Given the description of an element on the screen output the (x, y) to click on. 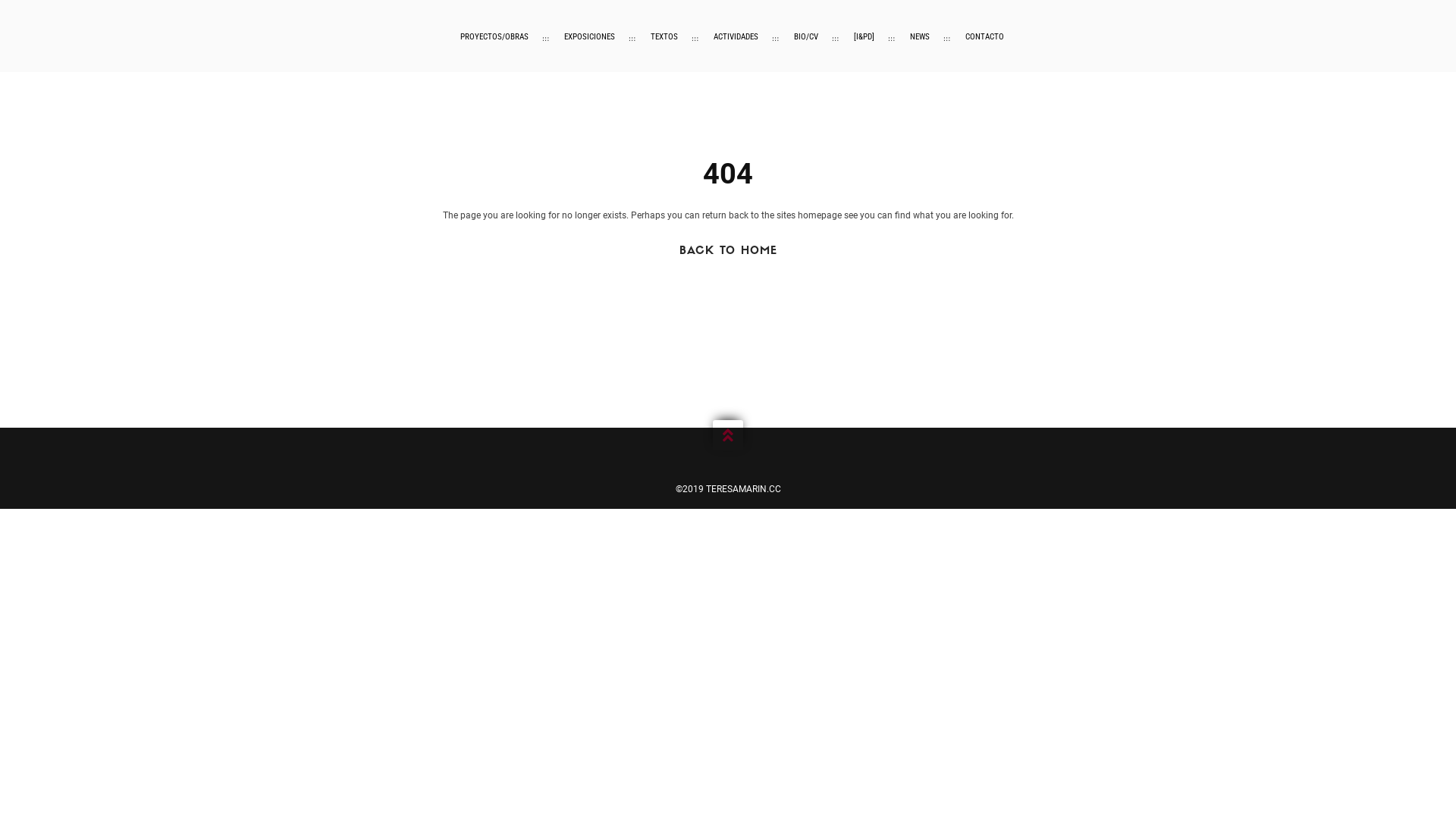
PROYECTOS/OBRAS Element type: text (493, 37)
CONTACTO Element type: text (983, 37)
BACK TO HOME Element type: text (727, 251)
TEXTOS Element type: text (663, 37)
[I&PD] Element type: text (863, 37)
EXPOSICIONES Element type: text (589, 37)
NEWS Element type: text (919, 37)
BIO/CV Element type: text (805, 37)
ACTIVIDADES Element type: text (734, 37)
